Given the description of an element on the screen output the (x, y) to click on. 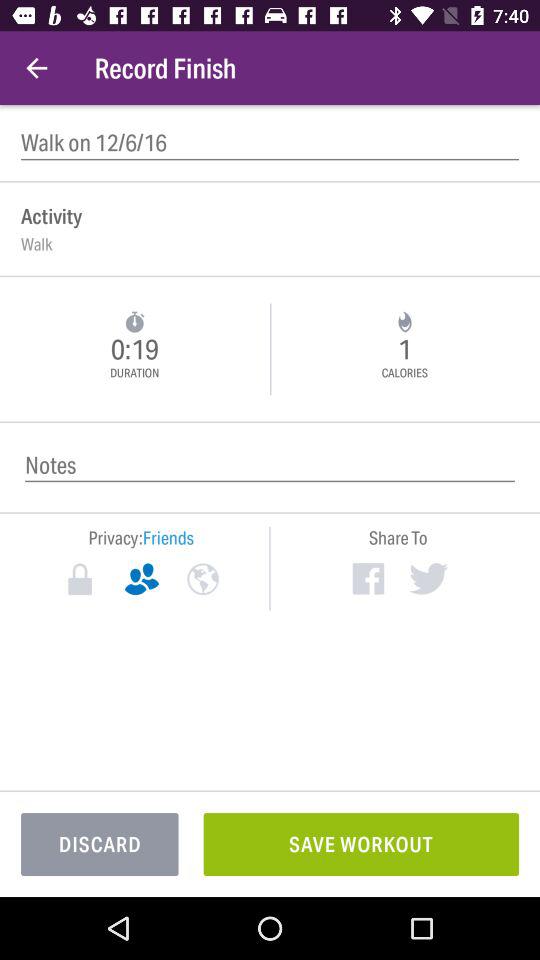
share to twitter (428, 578)
